Given the description of an element on the screen output the (x, y) to click on. 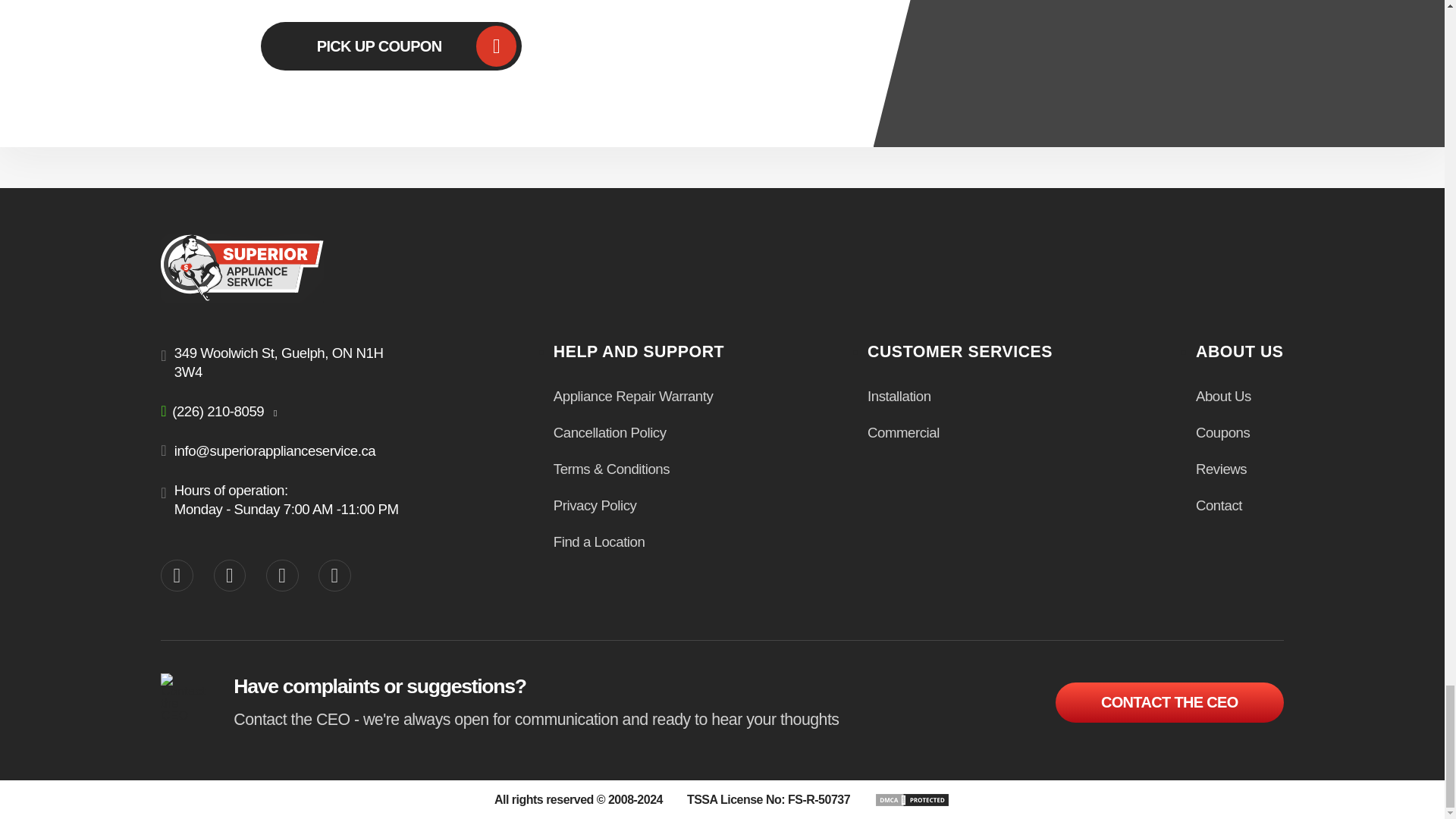
DMCA.com Protection Status (912, 799)
